Given the description of an element on the screen output the (x, y) to click on. 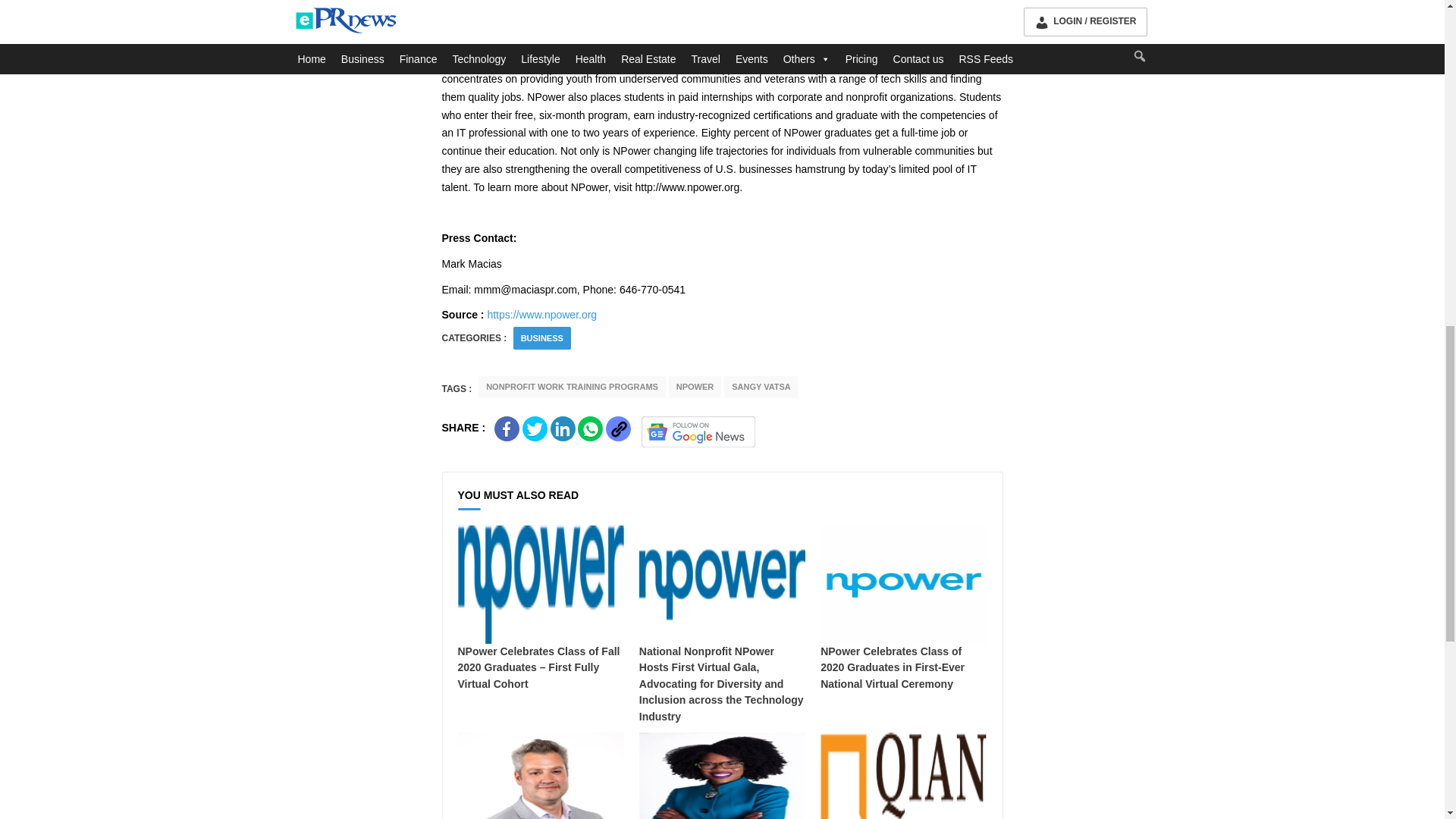
Share on Linkedin (562, 428)
NPOWER (695, 386)
SANGY VATSA (760, 386)
Share on Twitter (534, 428)
Copy Link (617, 428)
BUSINESS (542, 338)
NONPROFIT WORK TRAINING PROGRAMS (572, 386)
Share on Facebook (507, 428)
Share on Whatsapp (590, 428)
